Given the description of an element on the screen output the (x, y) to click on. 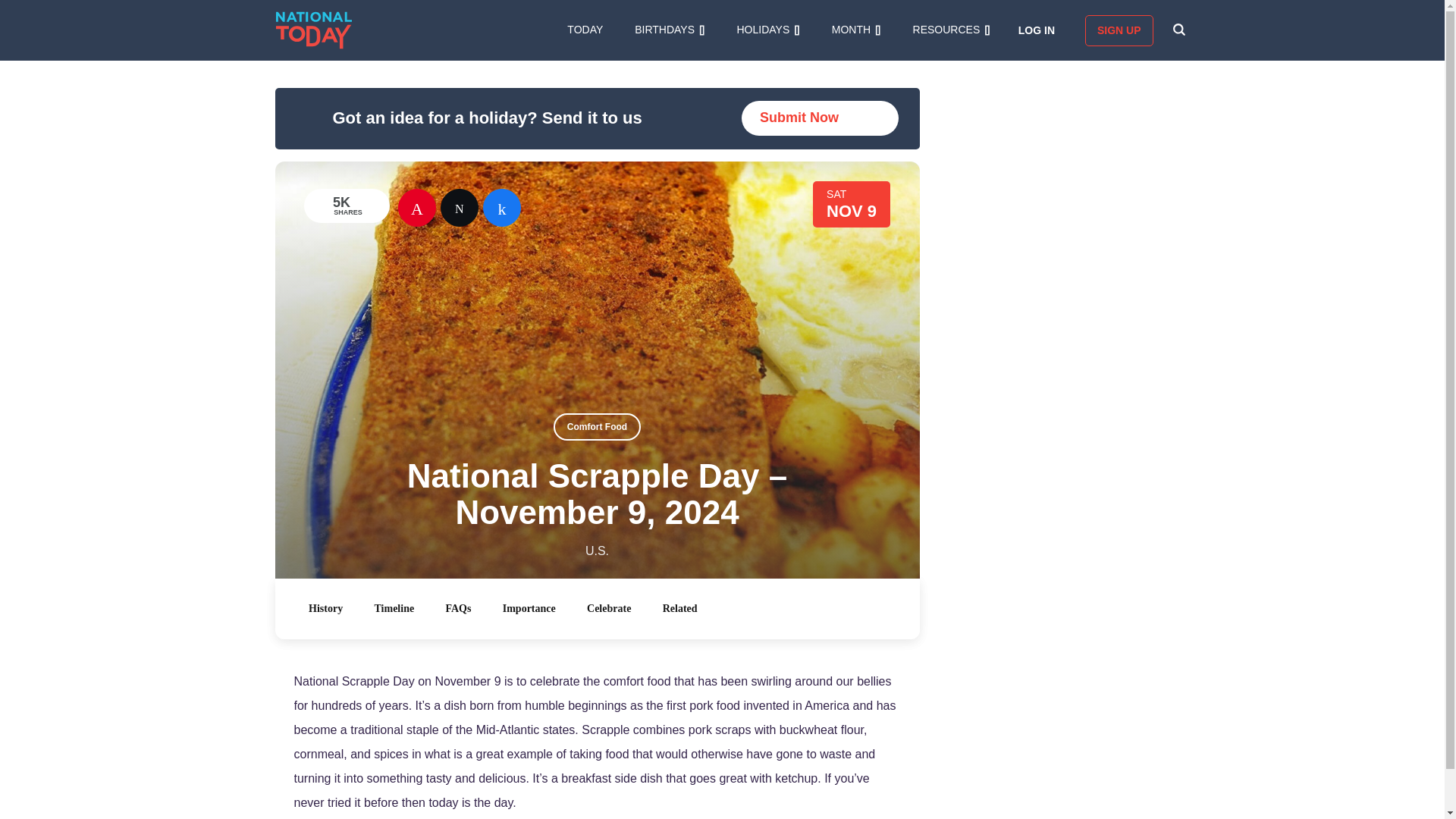
TODAY (584, 29)
HOLIDAYS (767, 29)
SEARCH (1178, 29)
MONTH (855, 29)
National Today (314, 30)
National Today (314, 30)
BIRTHDAYS (669, 29)
